Given the description of an element on the screen output the (x, y) to click on. 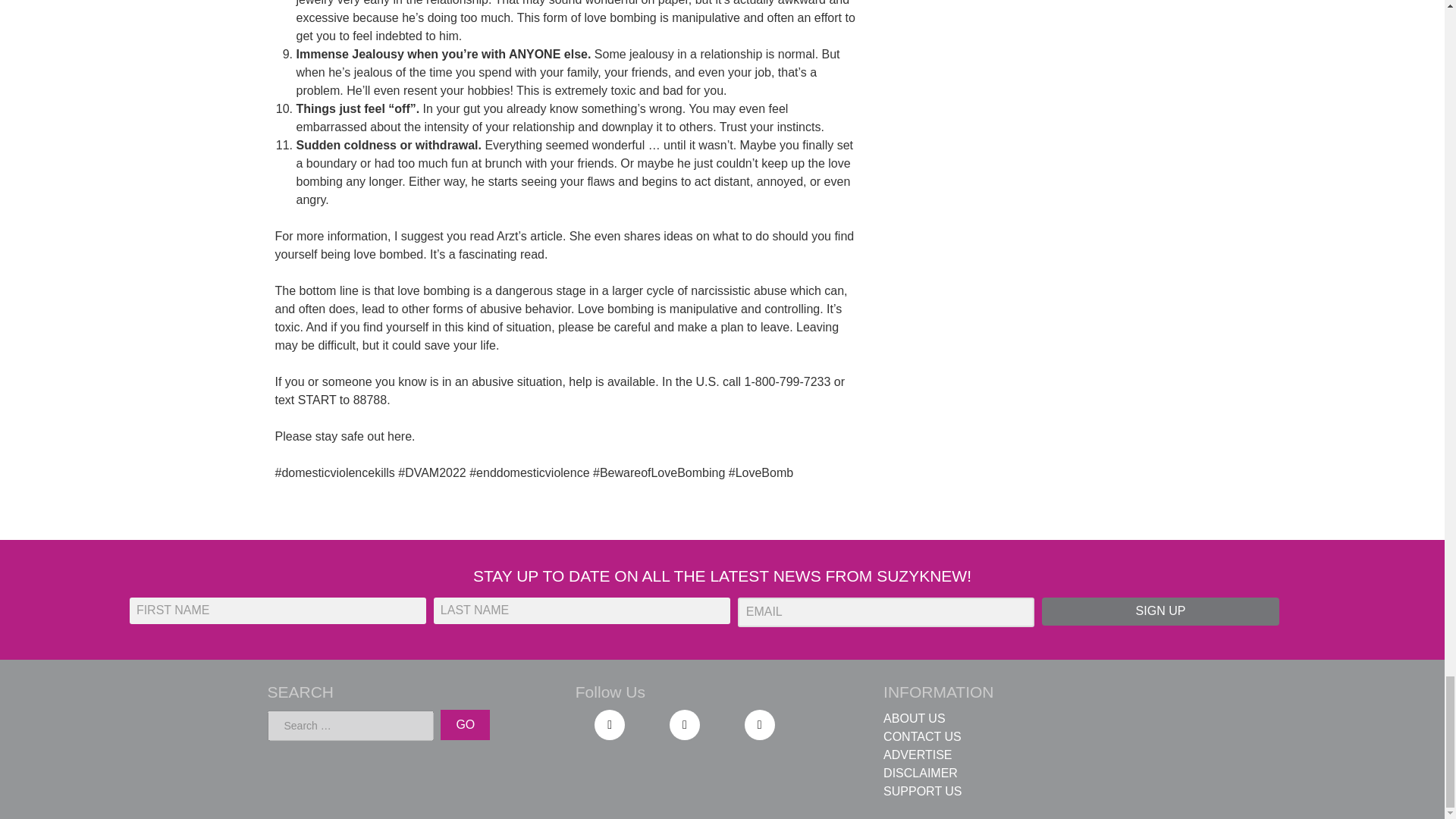
GO (465, 725)
GO (465, 725)
SIGN UP (1160, 611)
GO (465, 725)
